Given the description of an element on the screen output the (x, y) to click on. 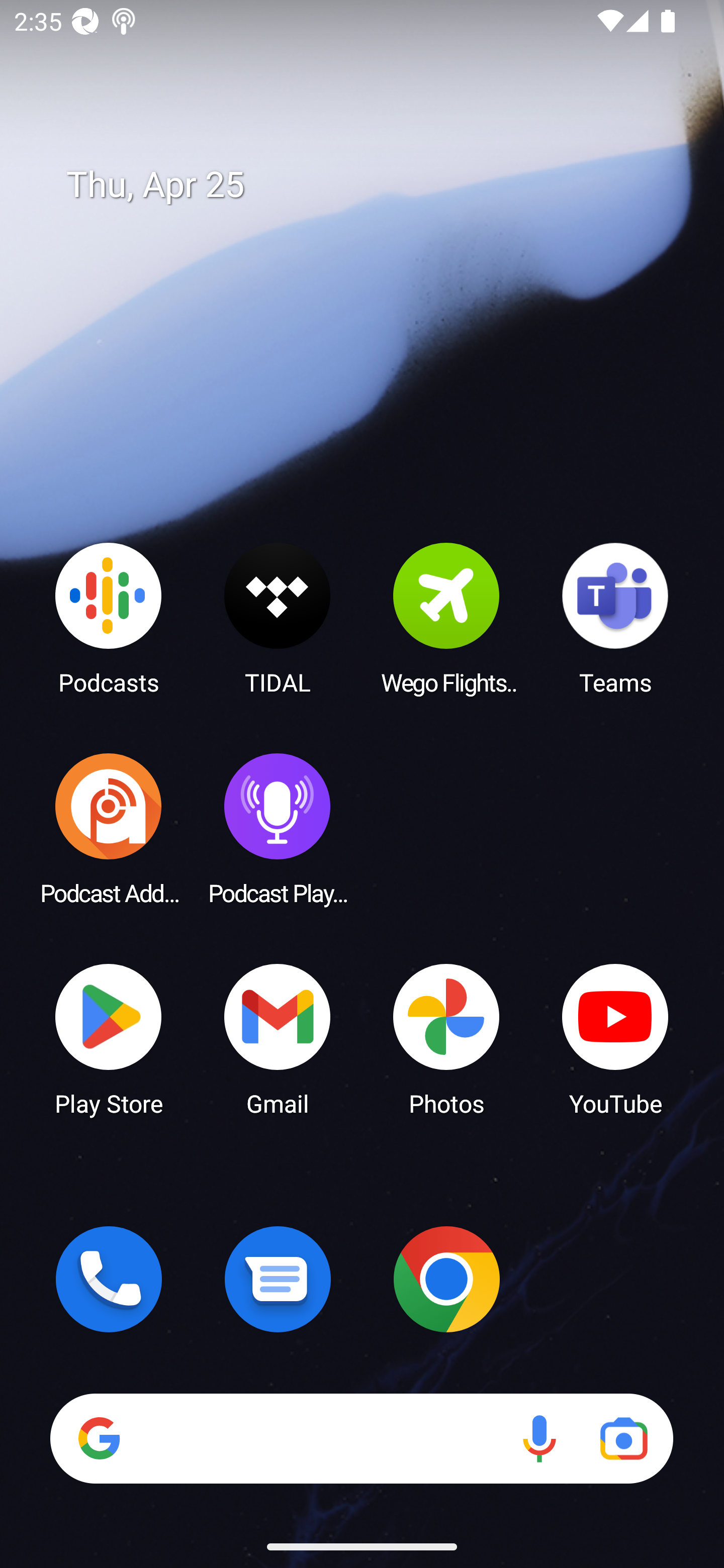
Thu, Apr 25 (375, 184)
Podcasts (108, 617)
TIDAL (277, 617)
Wego Flights & Hotels (445, 617)
Teams (615, 617)
Podcast Addict (108, 828)
Podcast Player (277, 828)
Play Store (108, 1038)
Gmail (277, 1038)
Photos (445, 1038)
YouTube (615, 1038)
Phone (108, 1279)
Messages (277, 1279)
Chrome (446, 1279)
Search Voice search Google Lens (361, 1438)
Voice search (539, 1438)
Google Lens (623, 1438)
